Given the description of an element on the screen output the (x, y) to click on. 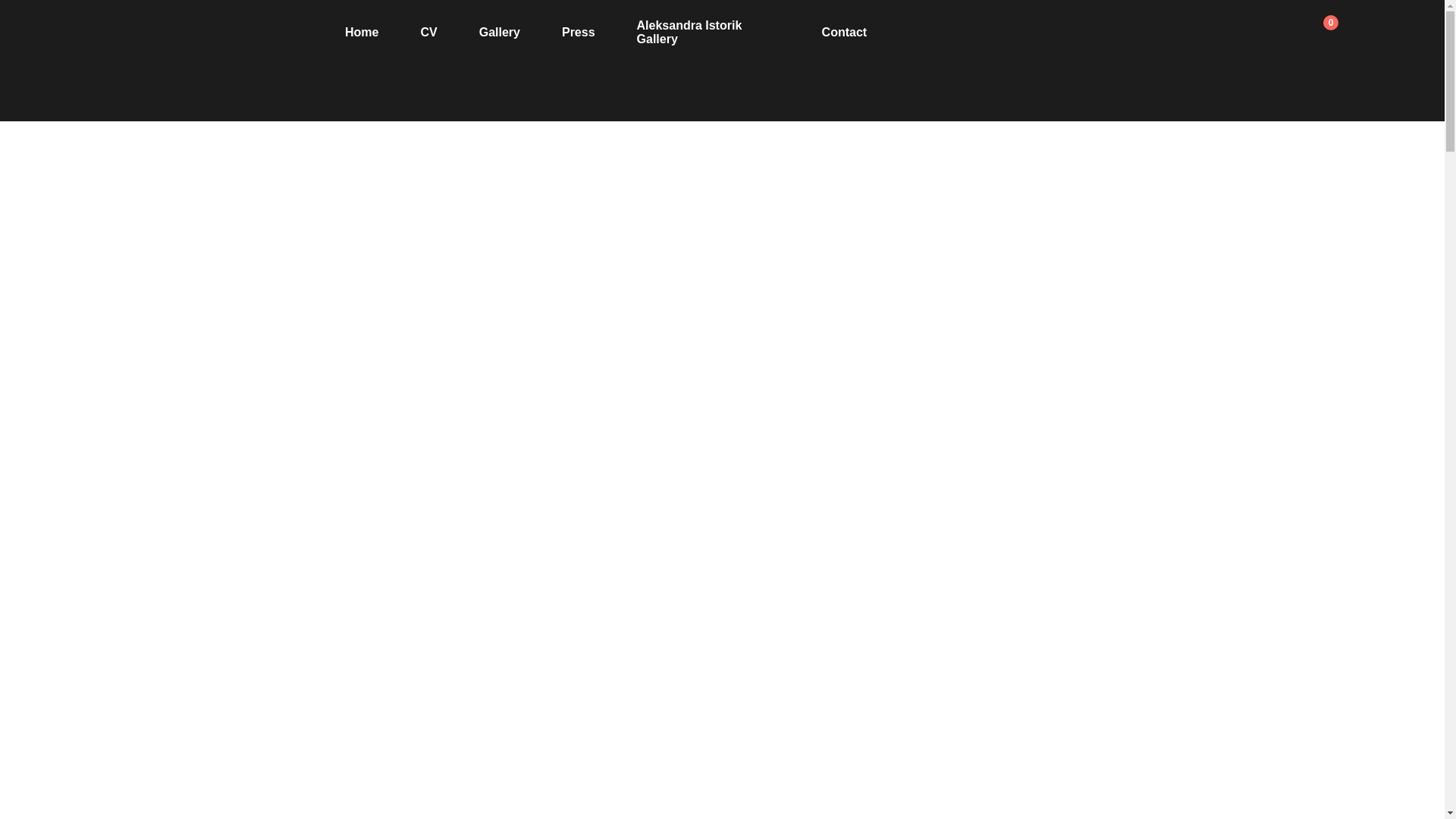
Home (361, 31)
Press (578, 31)
0 (1317, 32)
CV (428, 31)
Gallery (499, 31)
Aleksandra Istorik Gallery (689, 31)
Contact (844, 31)
